Given the description of an element on the screen output the (x, y) to click on. 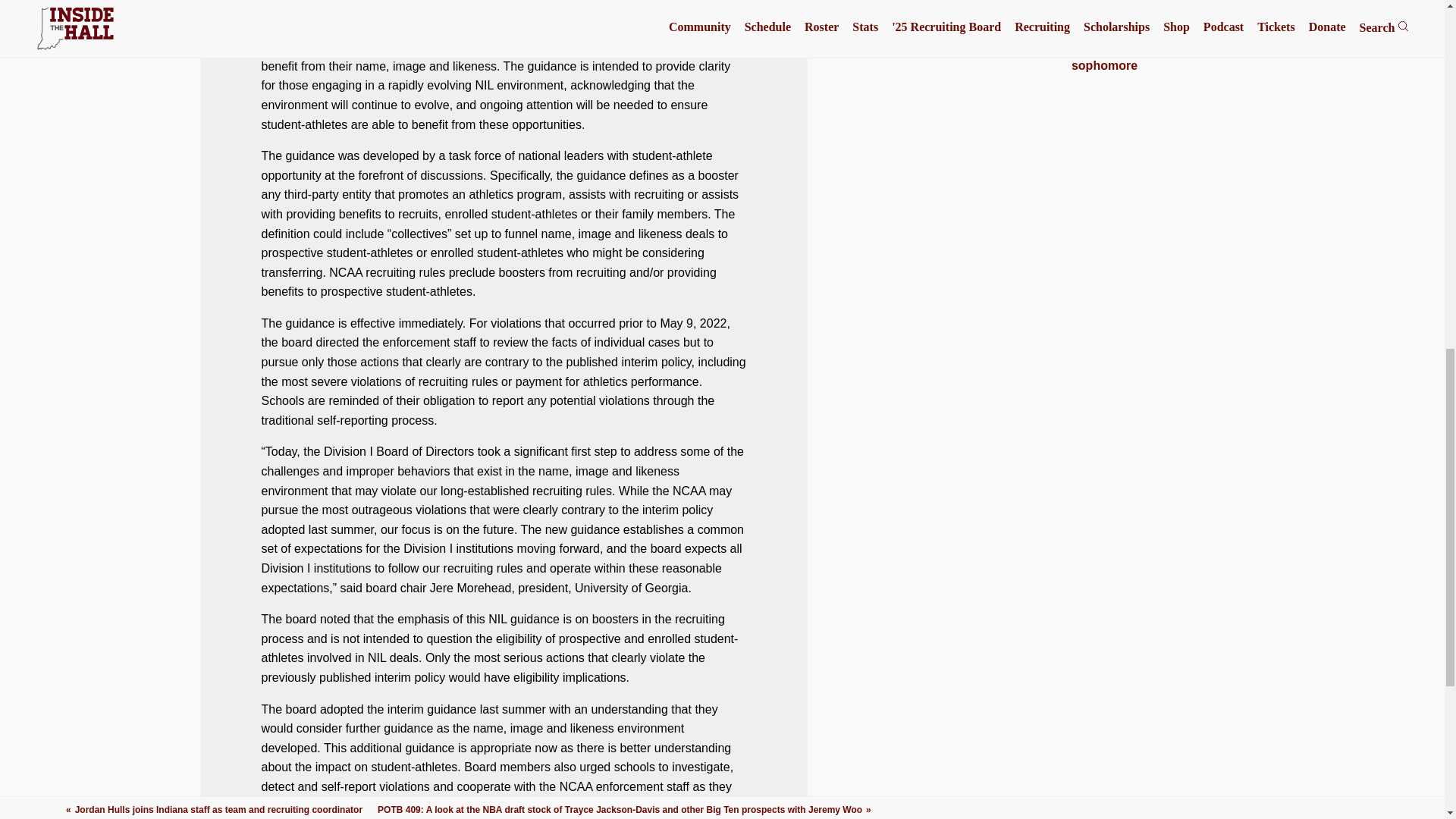
What Indiana needs from Gabe Cupps as a sophomore (1104, 58)
